Given the description of an element on the screen output the (x, y) to click on. 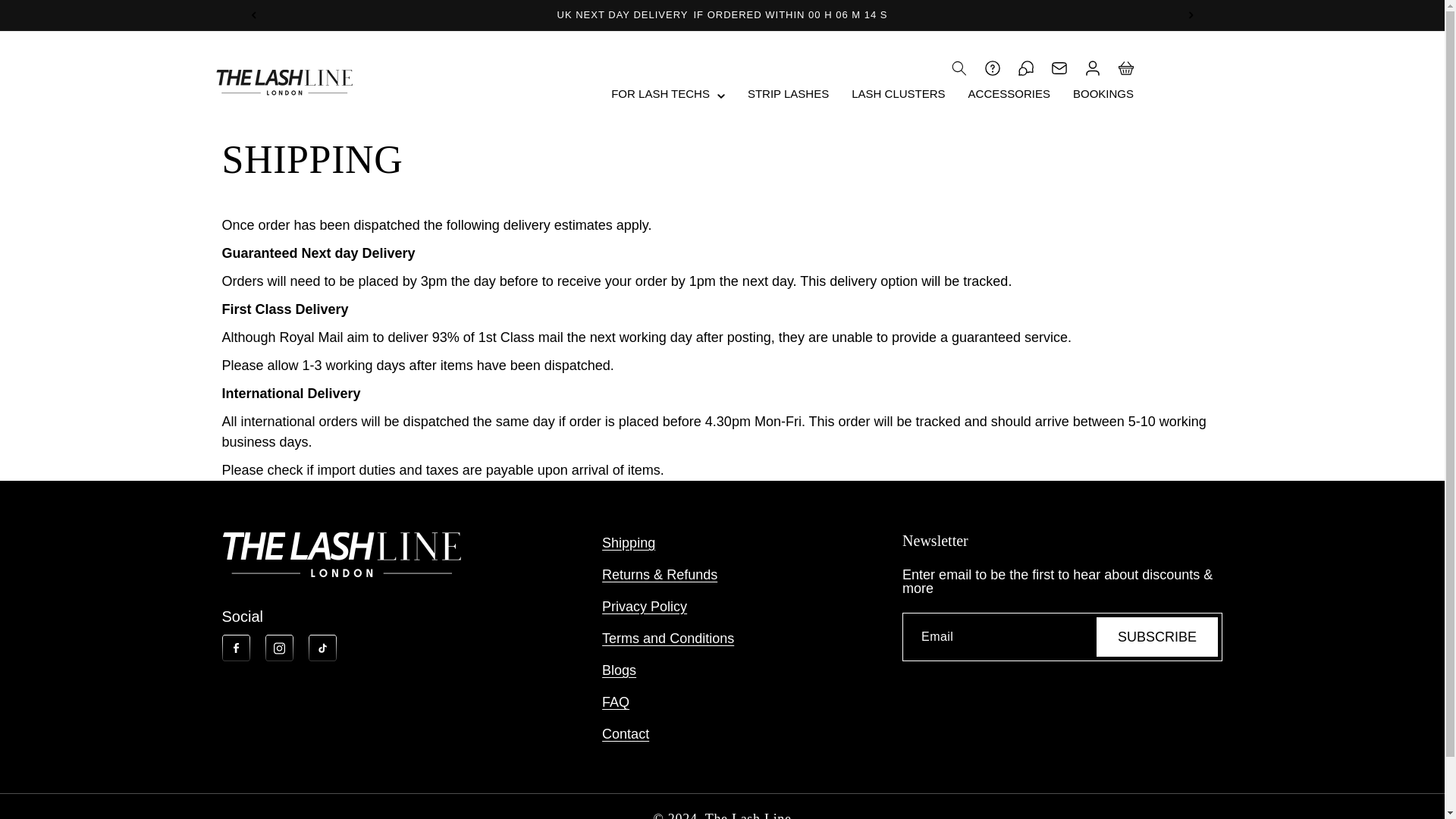
Cart (1126, 68)
BOOKINGS (1103, 92)
ACCESSORIES (1008, 92)
Log in (1092, 68)
FOR LASH TECHS (660, 92)
Skip to content (45, 17)
LASH CLUSTERS (897, 92)
STRIP LASHES (788, 92)
